Given the description of an element on the screen output the (x, y) to click on. 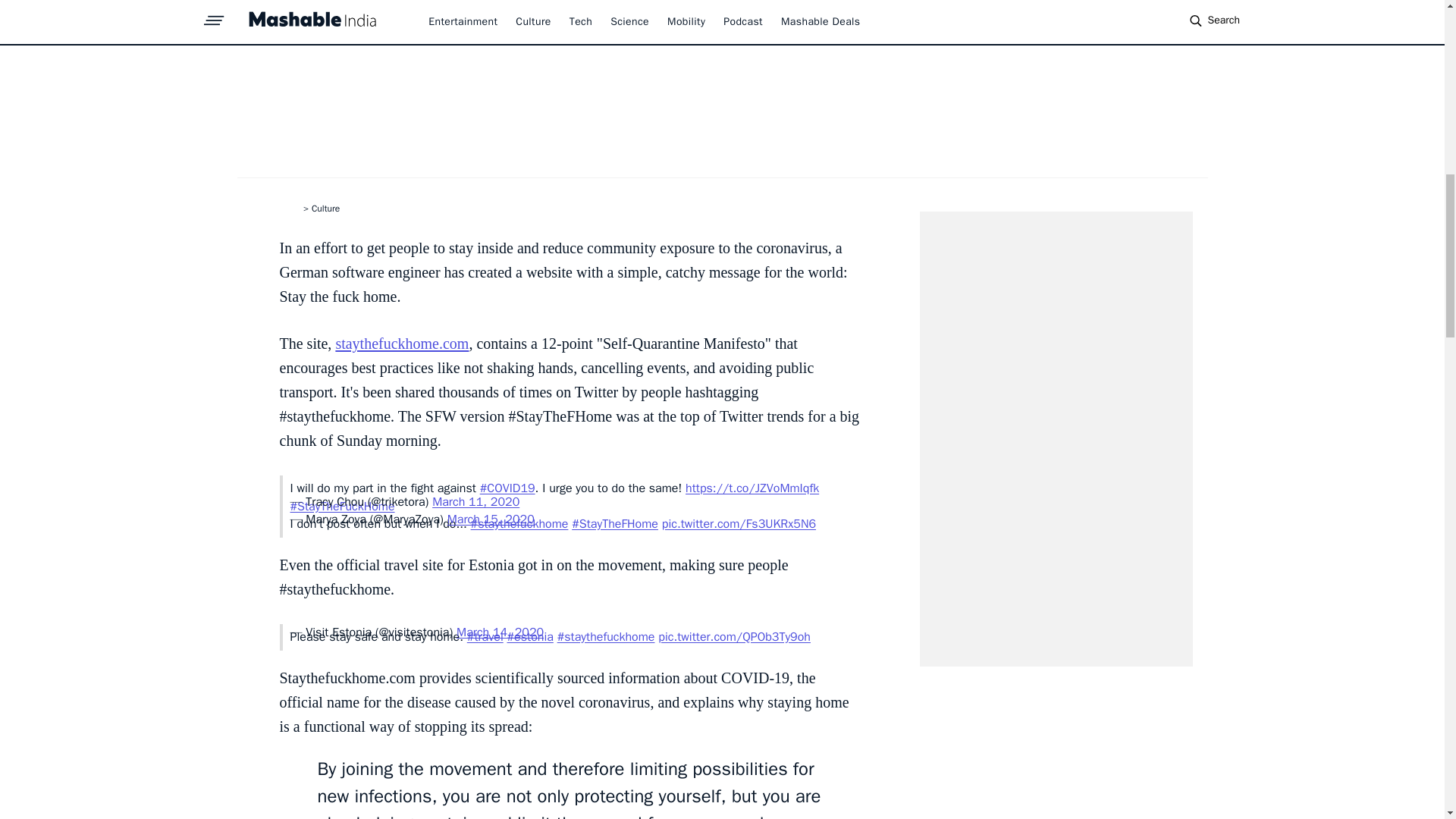
March 14, 2020 (500, 631)
March 11, 2020 (475, 501)
staythefuckhome.com (401, 343)
March 15, 2020 (490, 519)
